Given the description of an element on the screen output the (x, y) to click on. 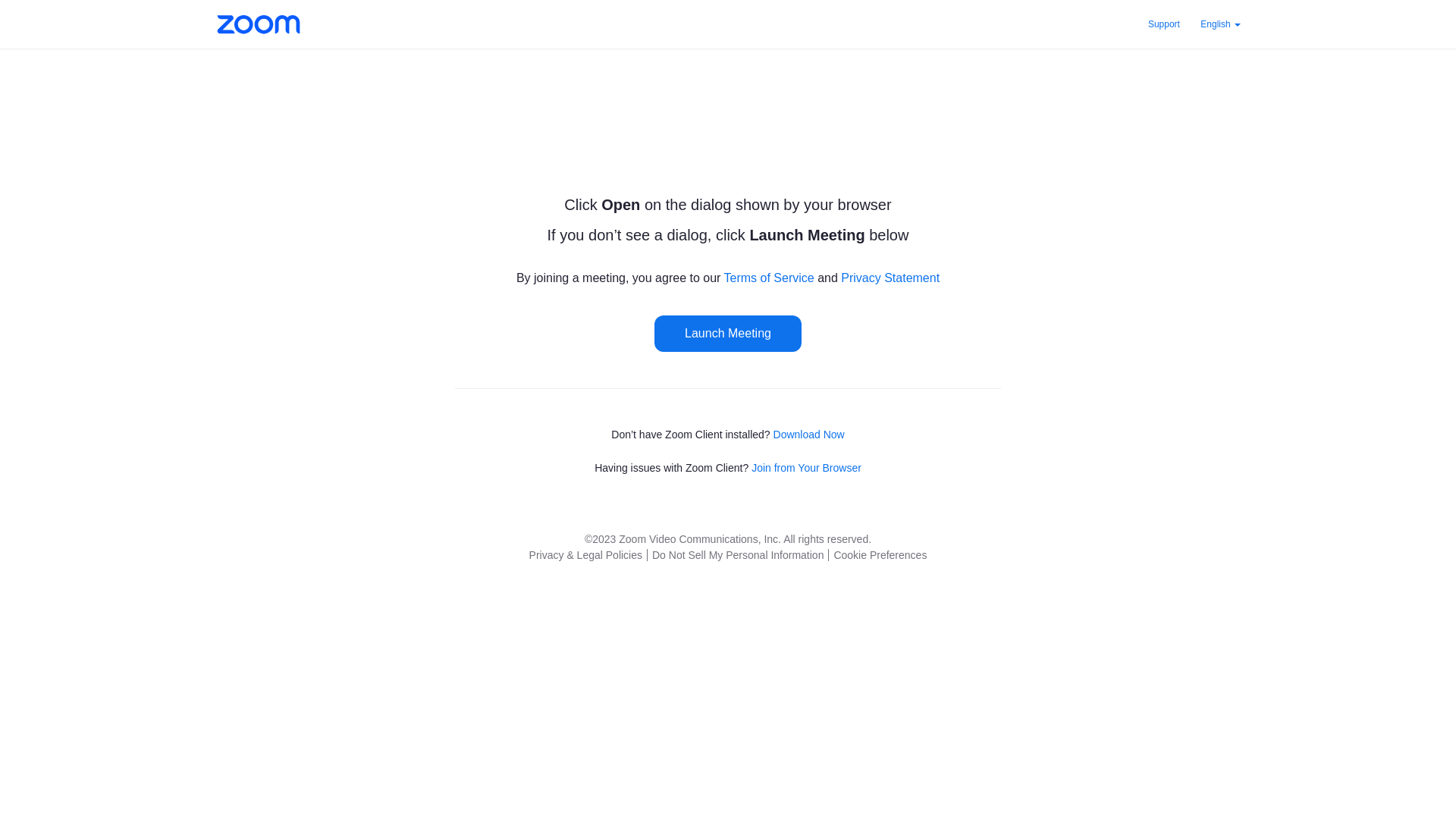
Privacy Statement Element type: text (889, 277)
Support Element type: text (1163, 23)
Privacy & Legal Policies Element type: text (585, 555)
Join from Your Browser Element type: text (806, 467)
English Element type: text (1220, 23)
Download Now Element type: text (808, 434)
Cookie Preferences Element type: text (879, 555)
Terms of Service Element type: text (769, 277)
Do Not Sell My Personal Information Element type: text (737, 555)
